Given the description of an element on the screen output the (x, y) to click on. 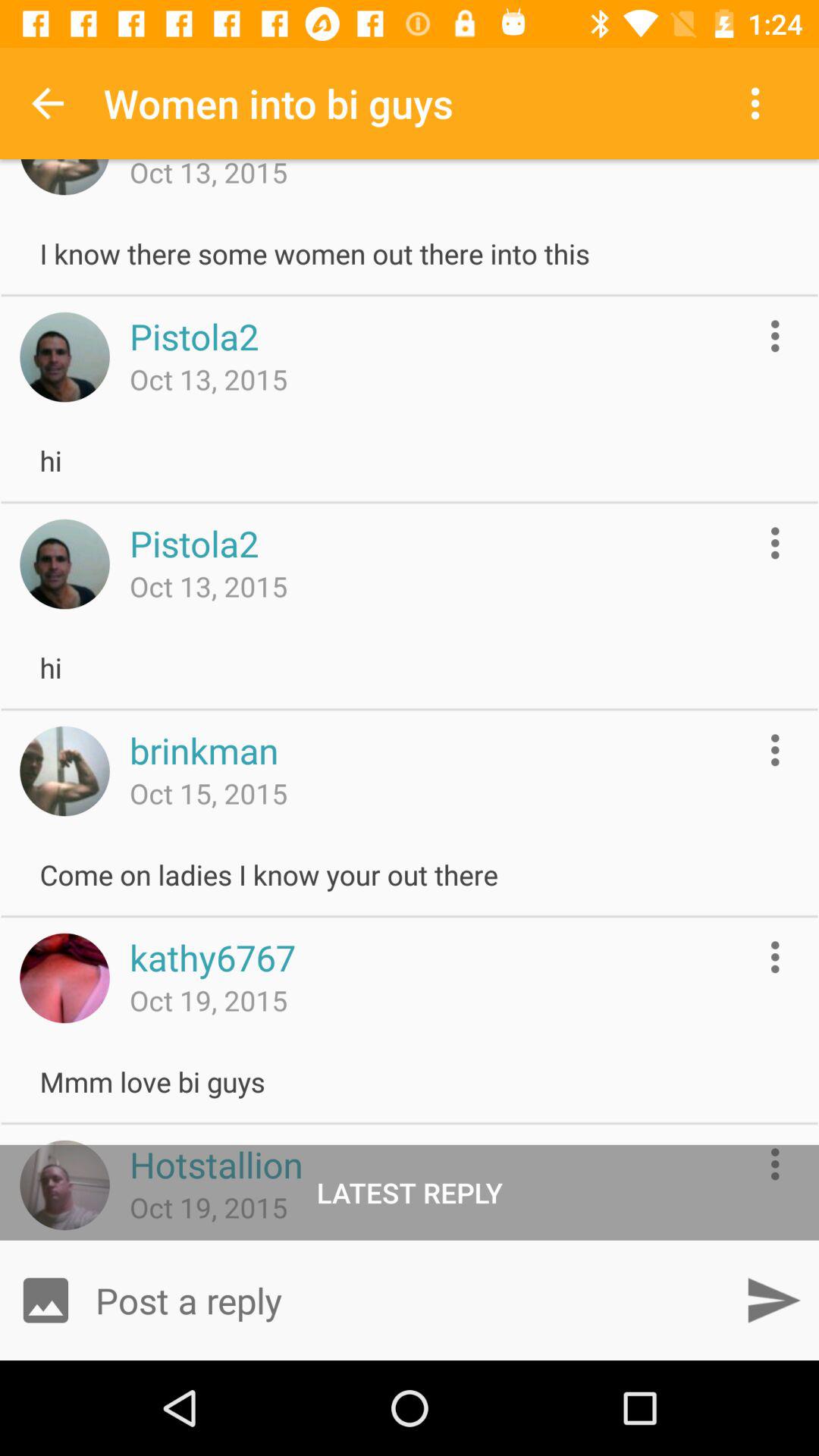
open details of a person (775, 336)
